Given the description of an element on the screen output the (x, y) to click on. 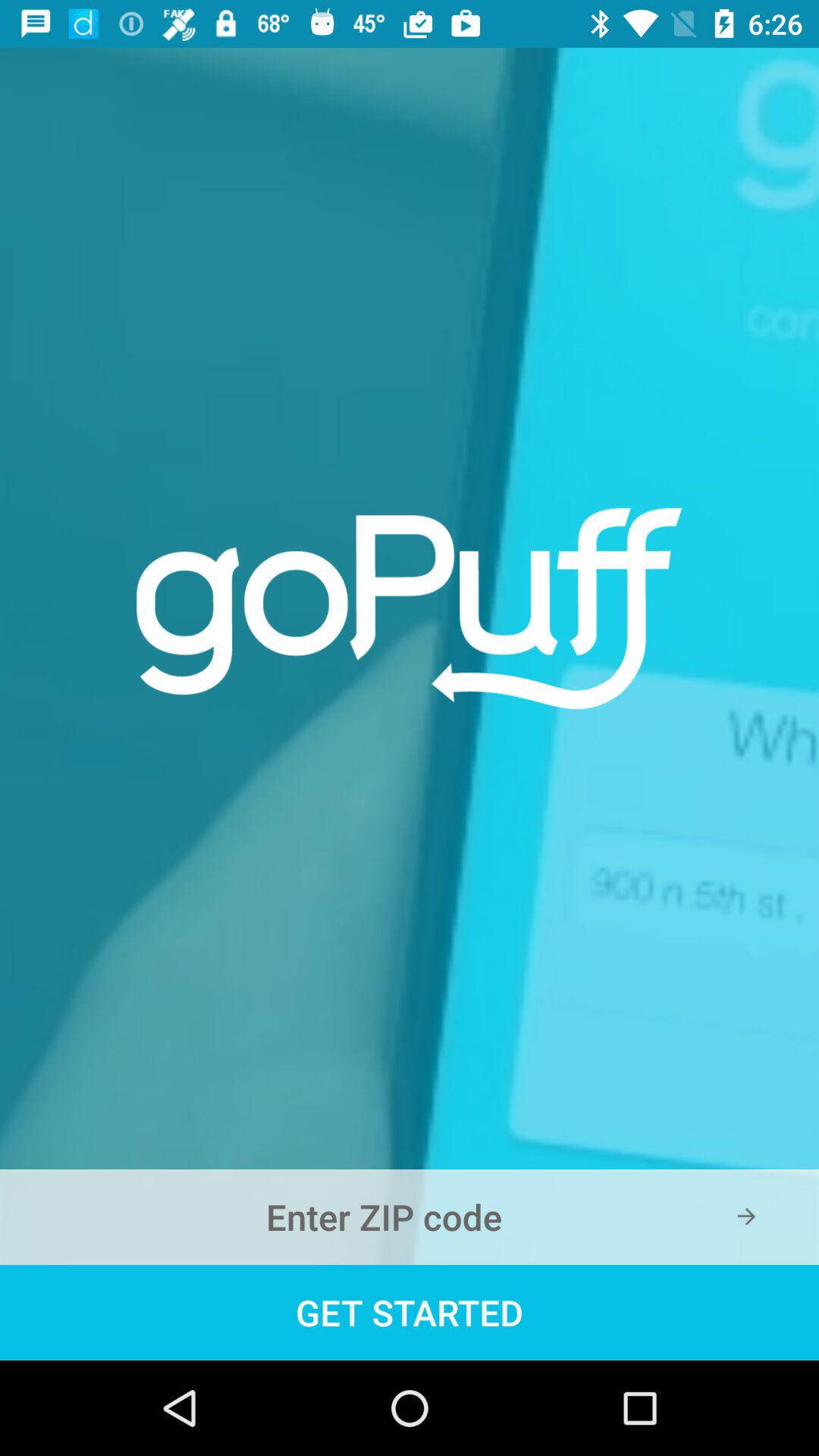
enter zip code button (409, 1216)
